Given the description of an element on the screen output the (x, y) to click on. 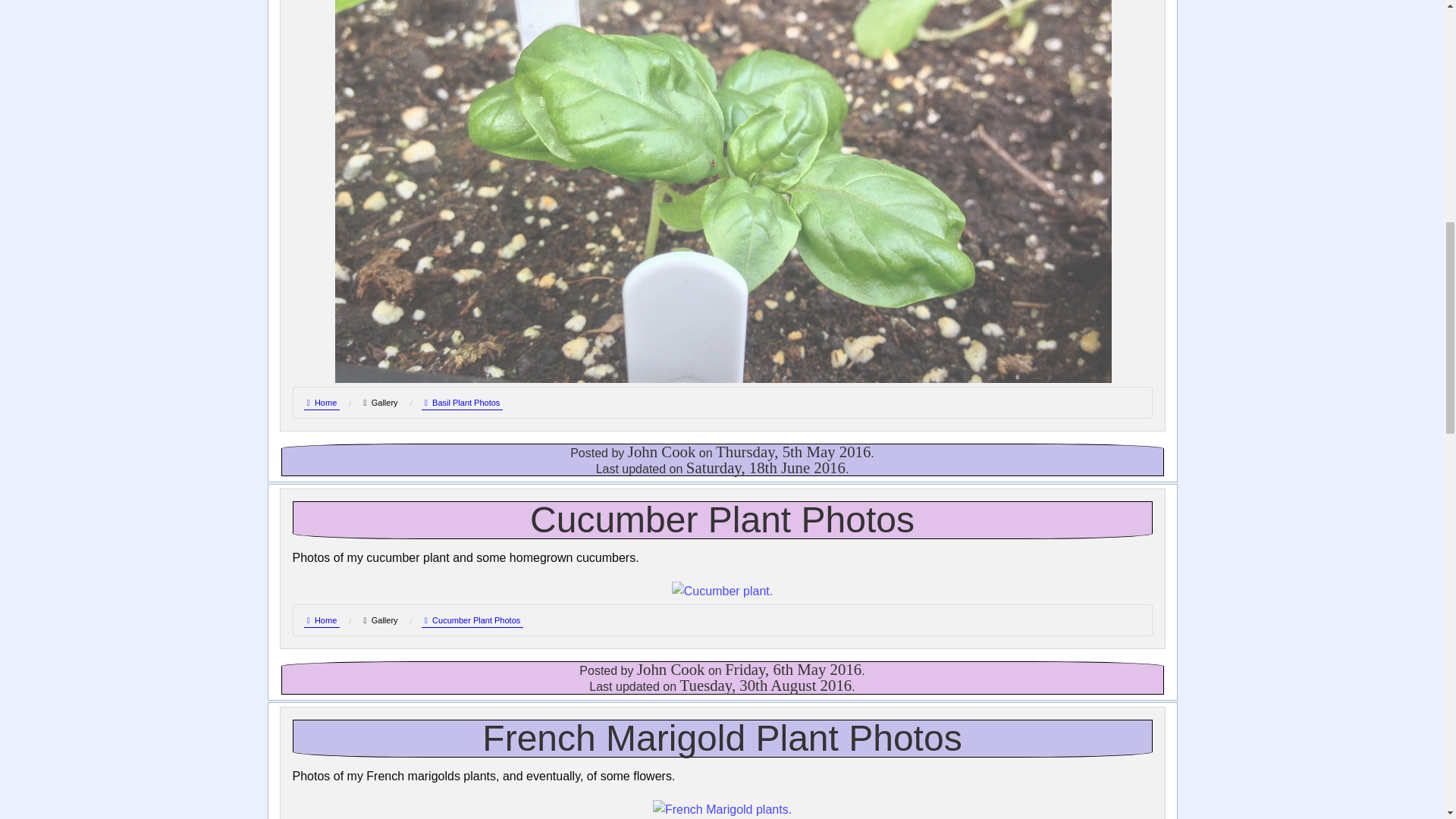
Home (320, 402)
French Marigold Plant Photos (722, 738)
Home (320, 620)
Gallery (379, 402)
Cucumber Plant Photos (722, 519)
Gallery (379, 620)
Cucumber Plant Photos (473, 620)
Basil Plant Photos (462, 402)
